Given the description of an element on the screen output the (x, y) to click on. 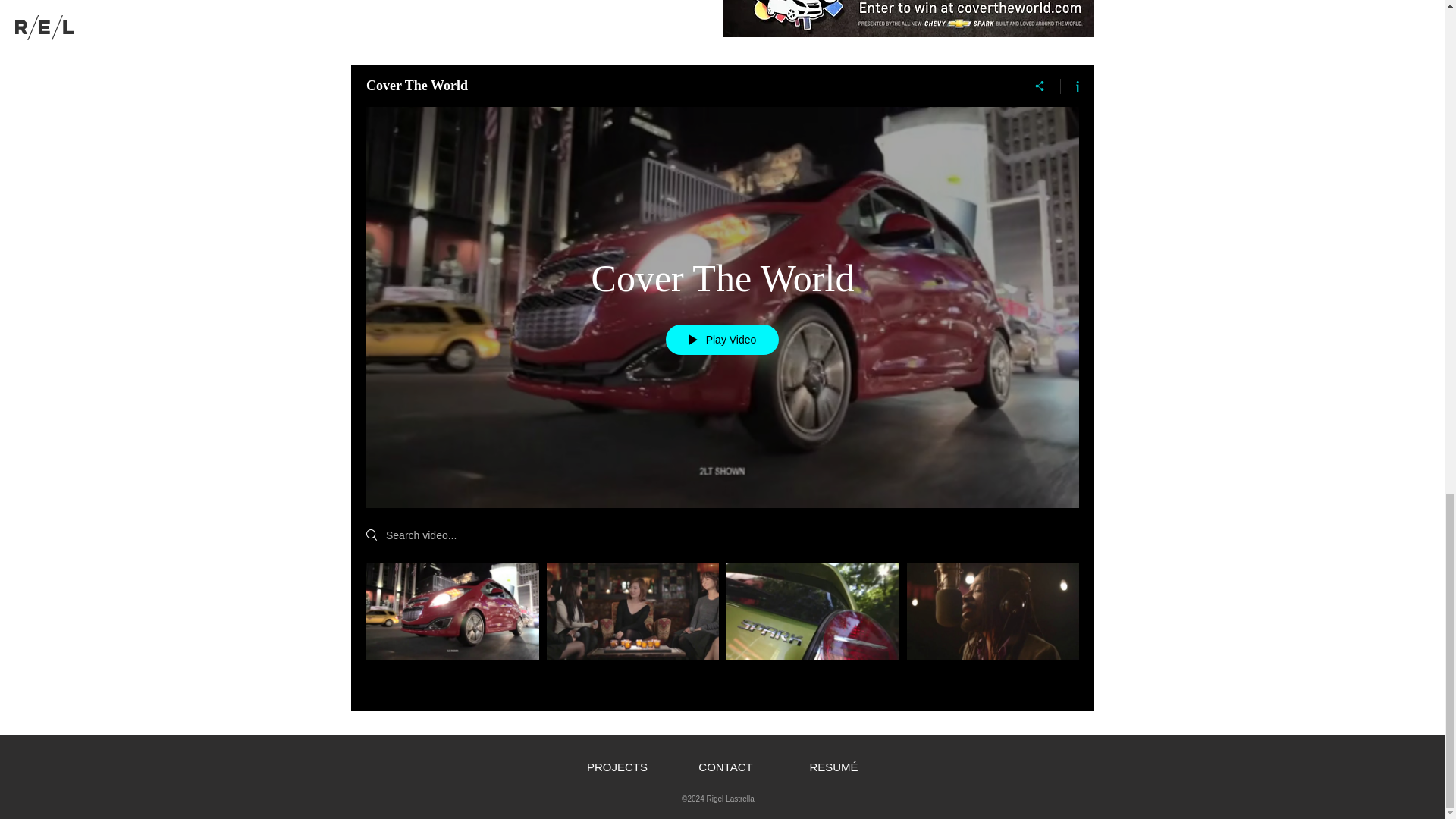
CTW-Flyer.jpg (907, 18)
Cover The World (684, 85)
Play Video (721, 339)
Cover The World (721, 278)
